Given the description of an element on the screen output the (x, y) to click on. 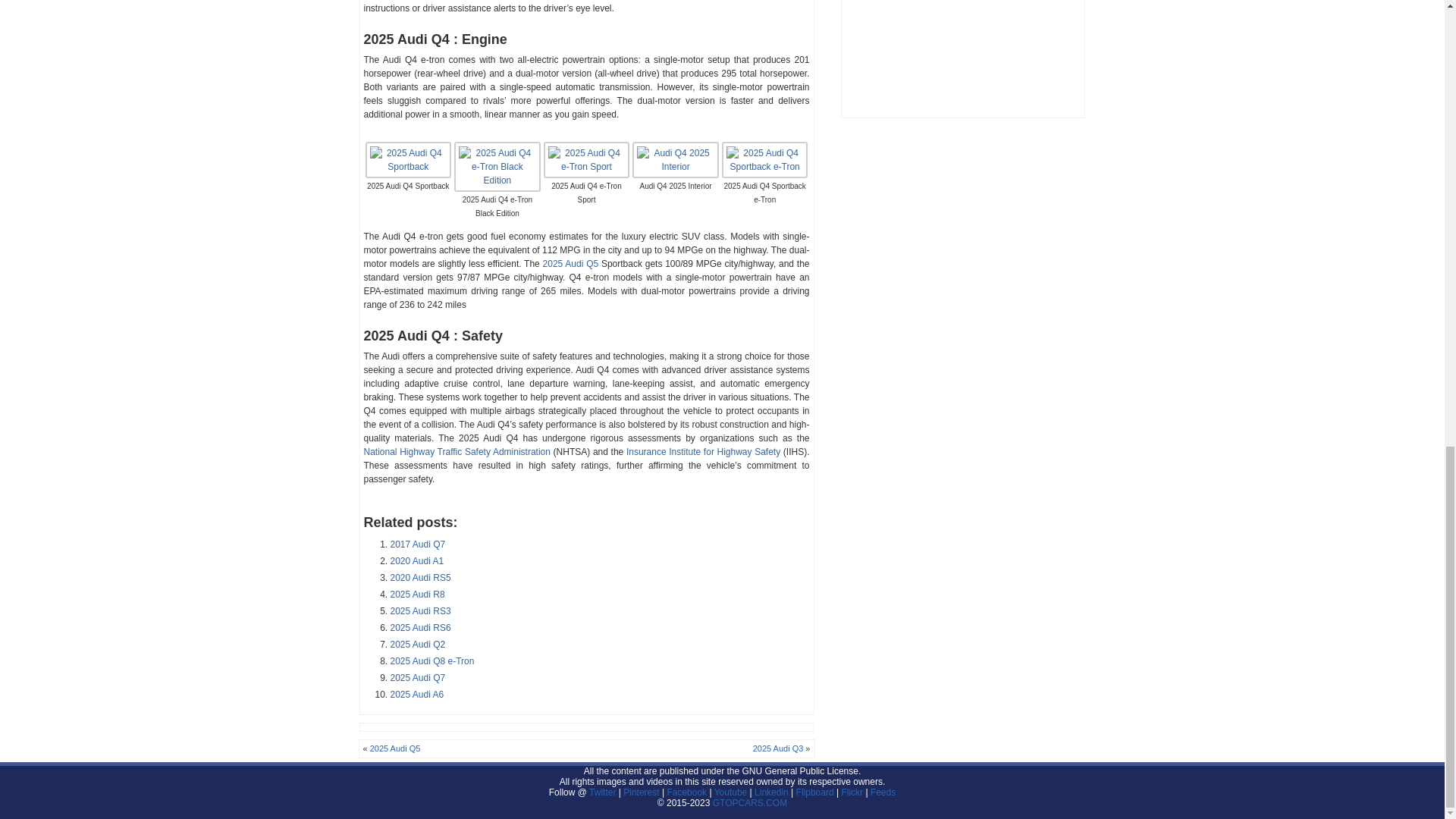
National Highway Traffic Safety Administration (457, 451)
Insurance Institute for Highway Safety (703, 451)
2025 Audi Q5 (570, 263)
2025 Audi Q5 (570, 263)
